Given the description of an element on the screen output the (x, y) to click on. 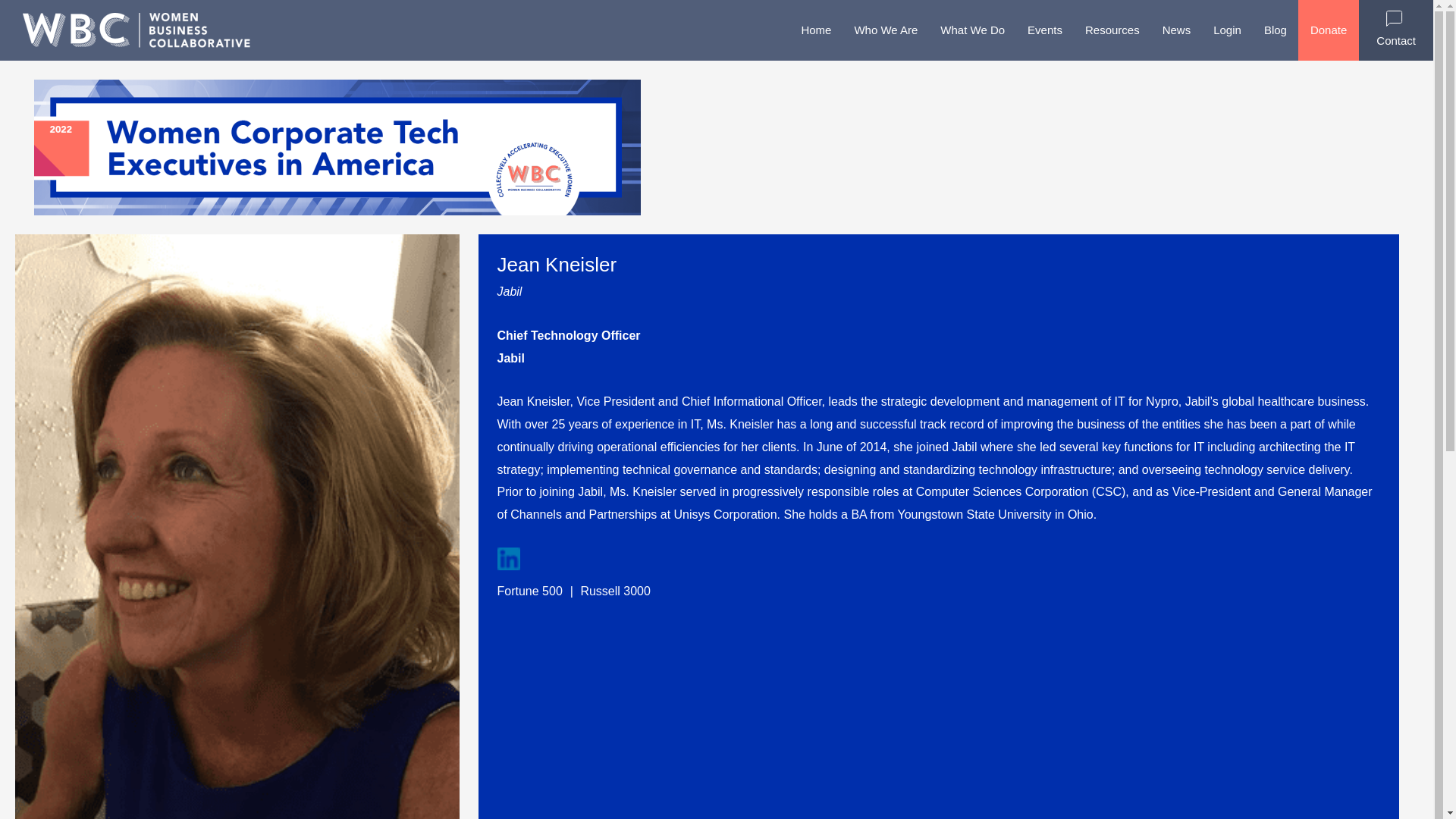
Who We Are (885, 30)
What We Do (972, 30)
